Given the description of an element on the screen output the (x, y) to click on. 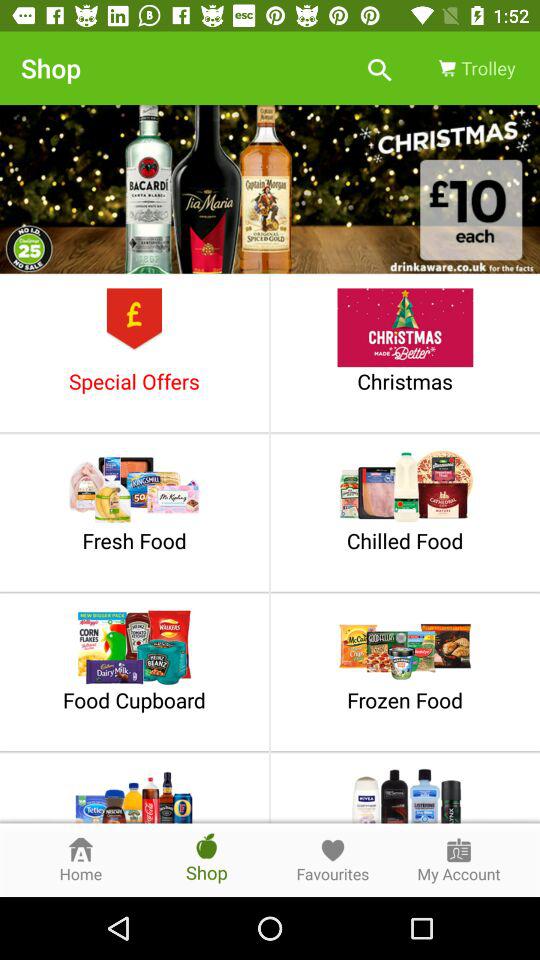
swipe to the trolley (475, 68)
